Given the description of an element on the screen output the (x, y) to click on. 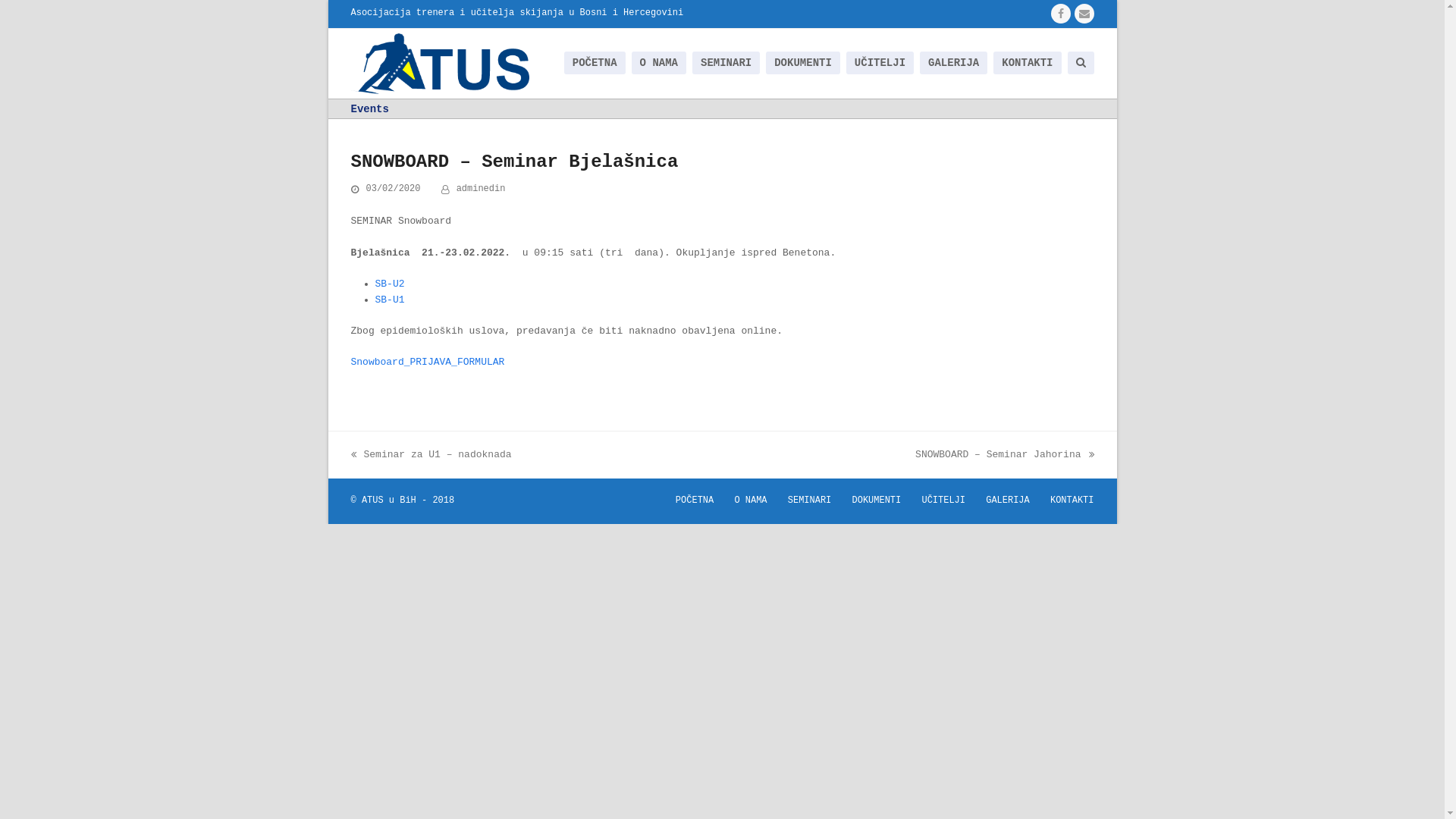
SEMINARI Element type: text (809, 500)
DOKUMENTI Element type: text (802, 63)
KONTAKTI Element type: text (1072, 500)
GALERIJA Element type: text (1007, 500)
O NAMA Element type: text (658, 63)
O NAMA Element type: text (750, 500)
SEMINARI Element type: text (725, 63)
Email Element type: text (1083, 13)
Snowboard_PRIJAVA_FORMULAR Element type: text (427, 361)
DOKUMENTI Element type: text (876, 500)
adminedin Element type: text (480, 188)
SB-U2 Element type: text (389, 283)
KONTAKTI Element type: text (1026, 63)
Facebook Element type: text (1060, 13)
SB-U1 Element type: text (389, 299)
GALERIJA Element type: text (953, 63)
